Given the description of an element on the screen output the (x, y) to click on. 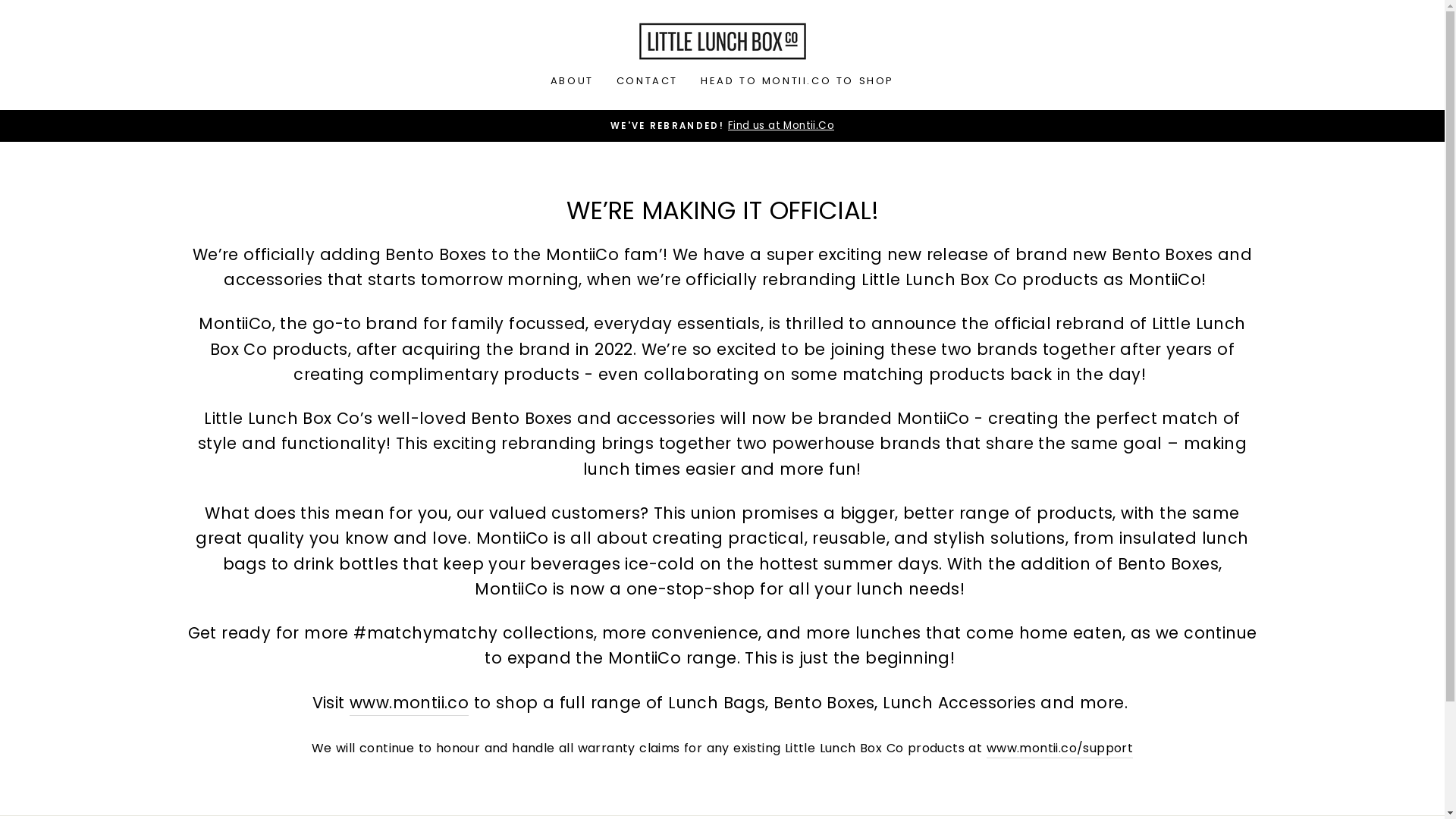
HEAD TO MONTII.CO TO SHOP Element type: text (797, 80)
Skip to content Element type: text (0, 0)
WE'VE REBRANDED!Find us at Montii.Co Element type: text (722, 125)
www.montii.co Element type: text (408, 702)
www.montii.co/support Element type: text (1059, 748)
CONTACT Element type: text (647, 80)
ABOUT Element type: text (572, 80)
